Given the description of an element on the screen output the (x, y) to click on. 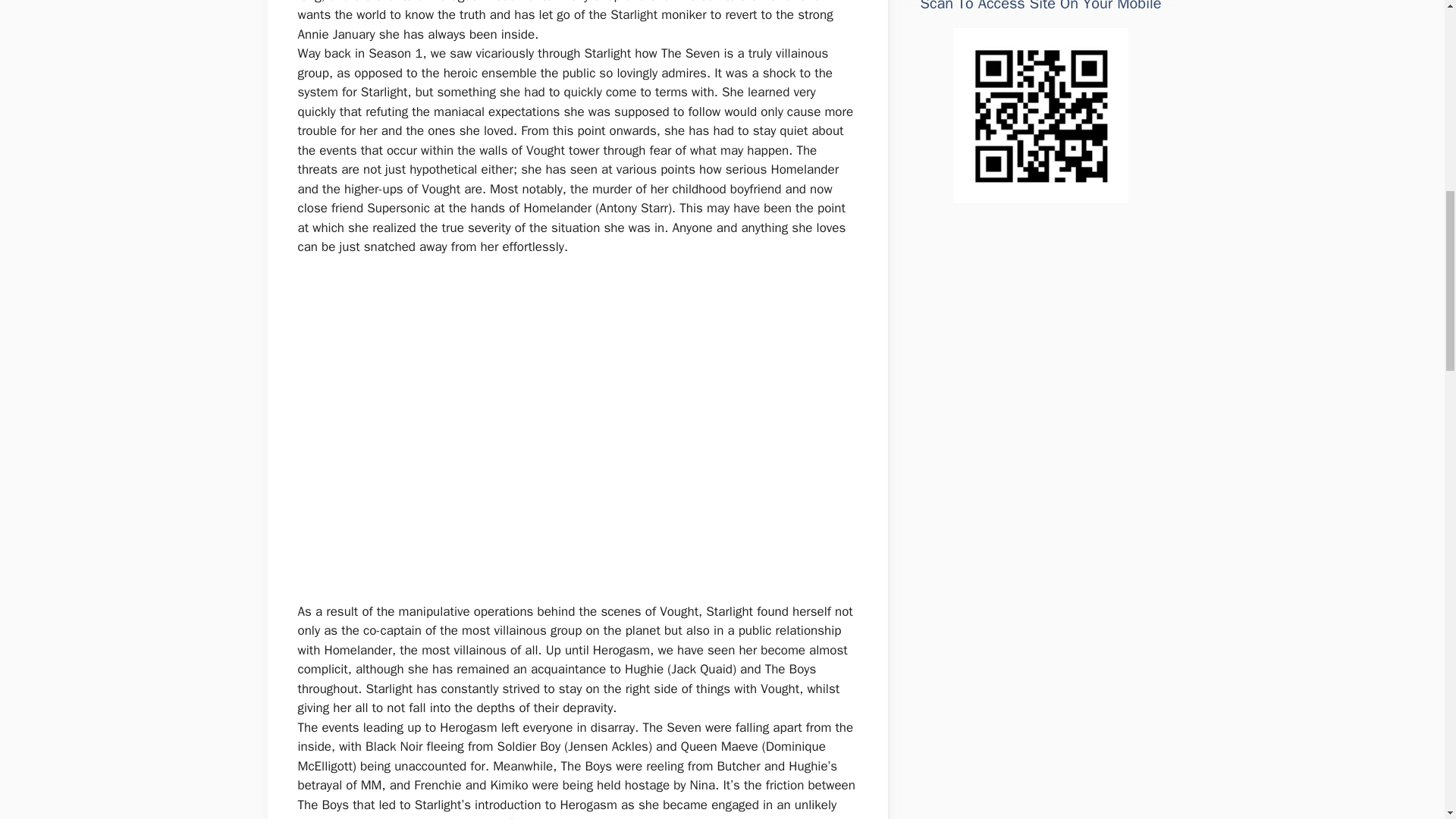
Scroll back to top (1406, 720)
